Given the description of an element on the screen output the (x, y) to click on. 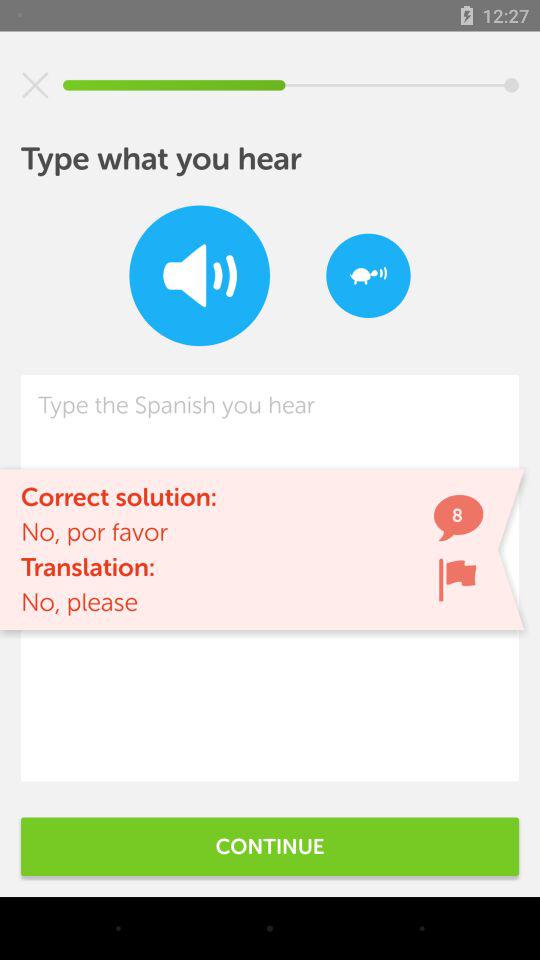
close button (35, 85)
